Given the description of an element on the screen output the (x, y) to click on. 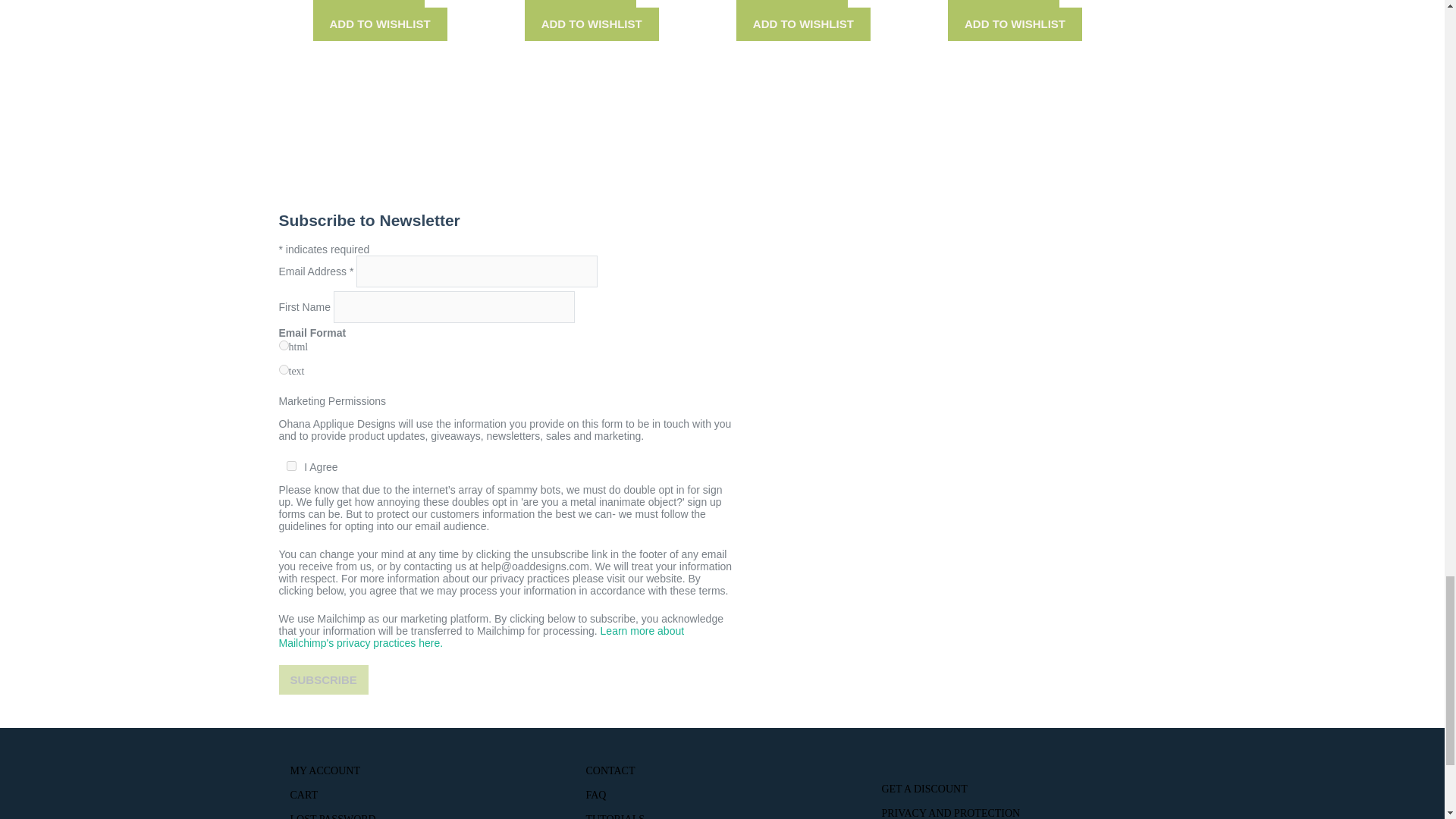
text (283, 369)
Y (291, 465)
html (283, 345)
Subscribe (323, 679)
